Given the description of an element on the screen output the (x, y) to click on. 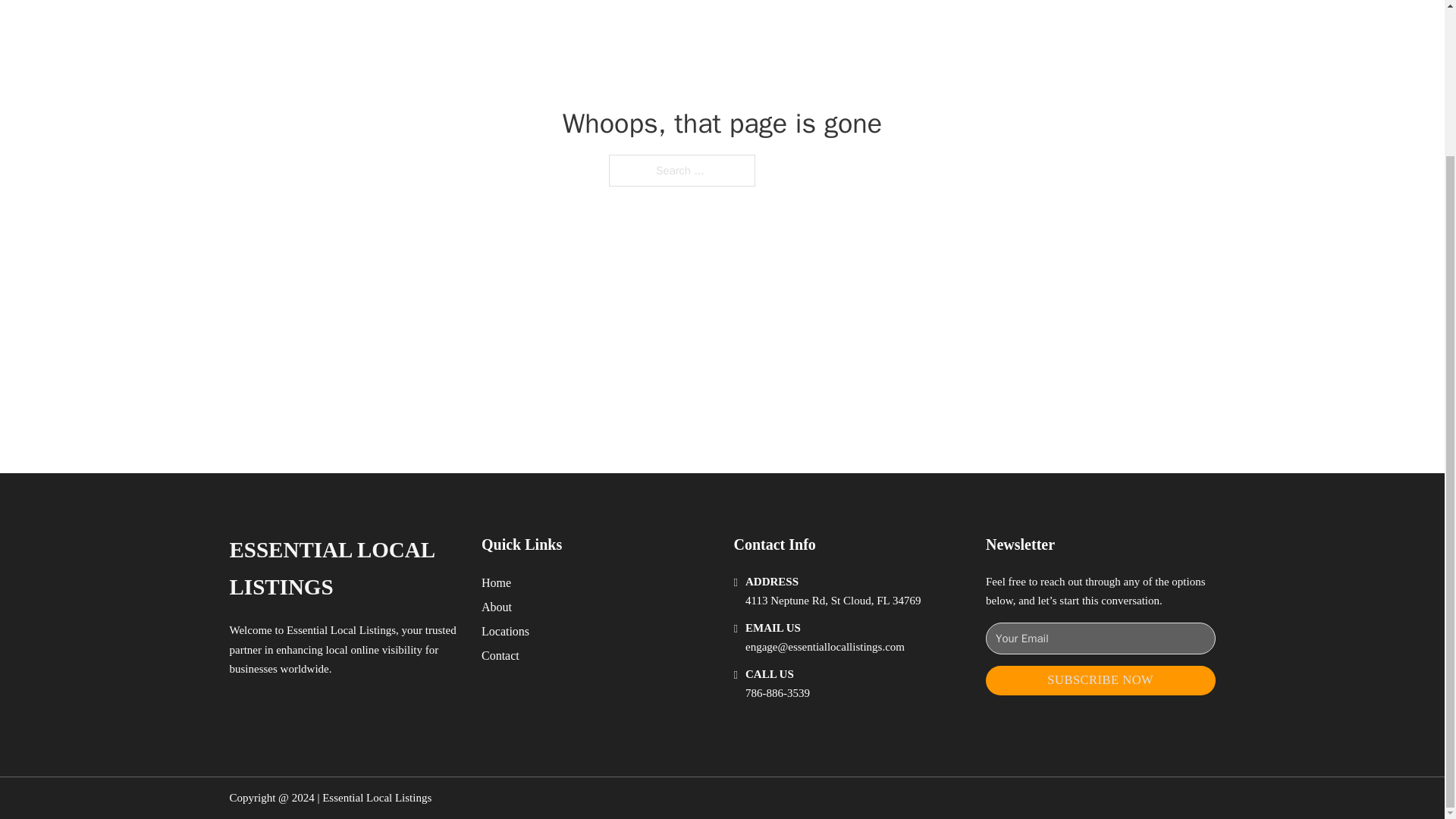
Home (496, 582)
Contact (500, 655)
About (496, 607)
786-886-3539 (777, 693)
ESSENTIAL LOCAL LISTINGS (343, 568)
SUBSCRIBE NOW (1100, 680)
Locations (505, 630)
